Given the description of an element on the screen output the (x, y) to click on. 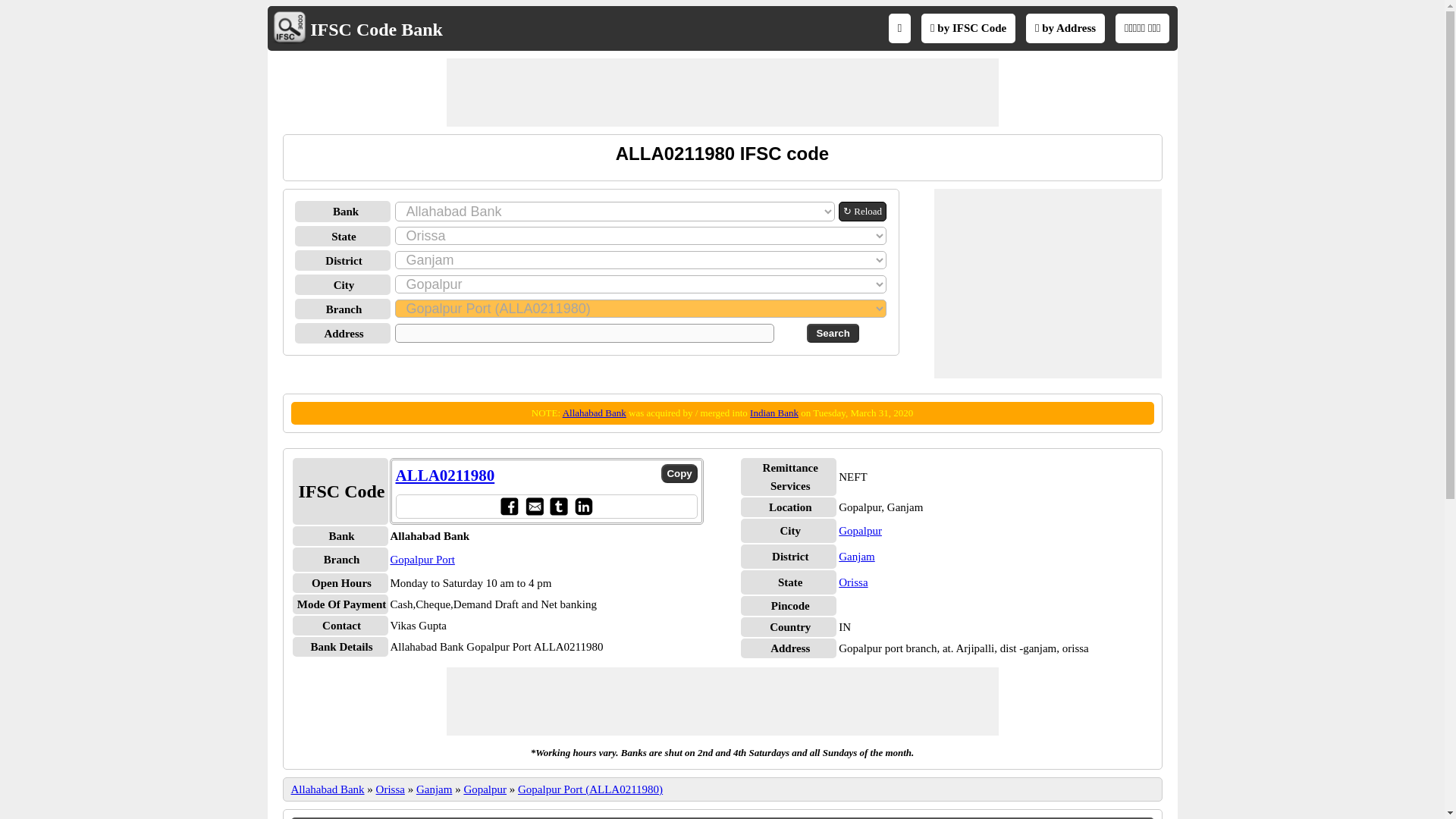
Advertisement (1047, 283)
Advertisement (721, 701)
Gopalpur Port (422, 559)
Copy (679, 473)
Click to reload all bank names (862, 211)
Orissa (852, 582)
IFSC Code Bank (376, 29)
IFSC codes in Hindi (1142, 28)
Search (832, 333)
Search By IFSC Code (968, 28)
